Given the description of an element on the screen output the (x, y) to click on. 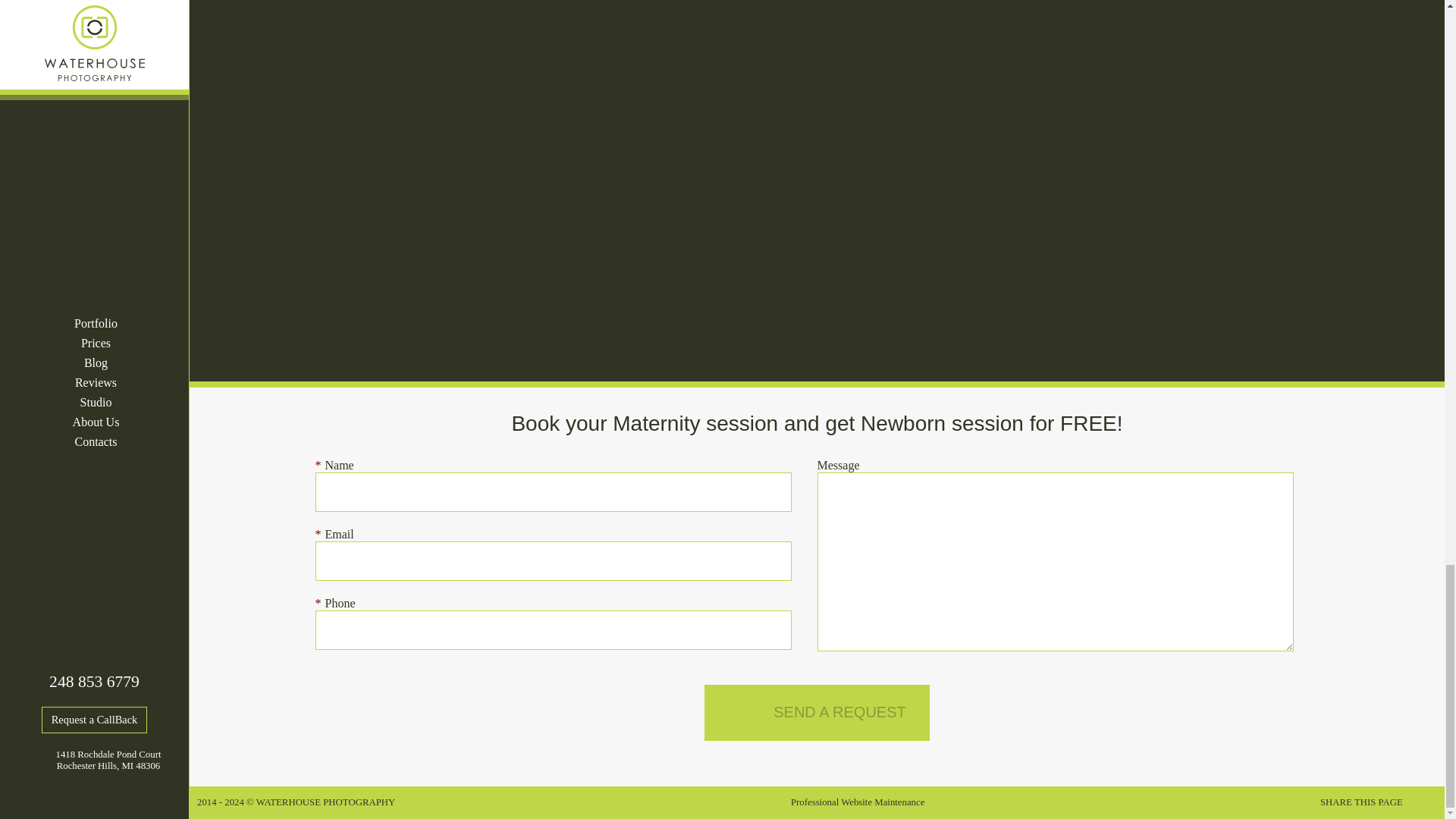
Book Now (817, 712)
SEND A REQUEST (817, 712)
Share this page (1378, 802)
Professional Website Maintenance (857, 802)
SHARE THIS PAGE (1378, 802)
